Given the description of an element on the screen output the (x, y) to click on. 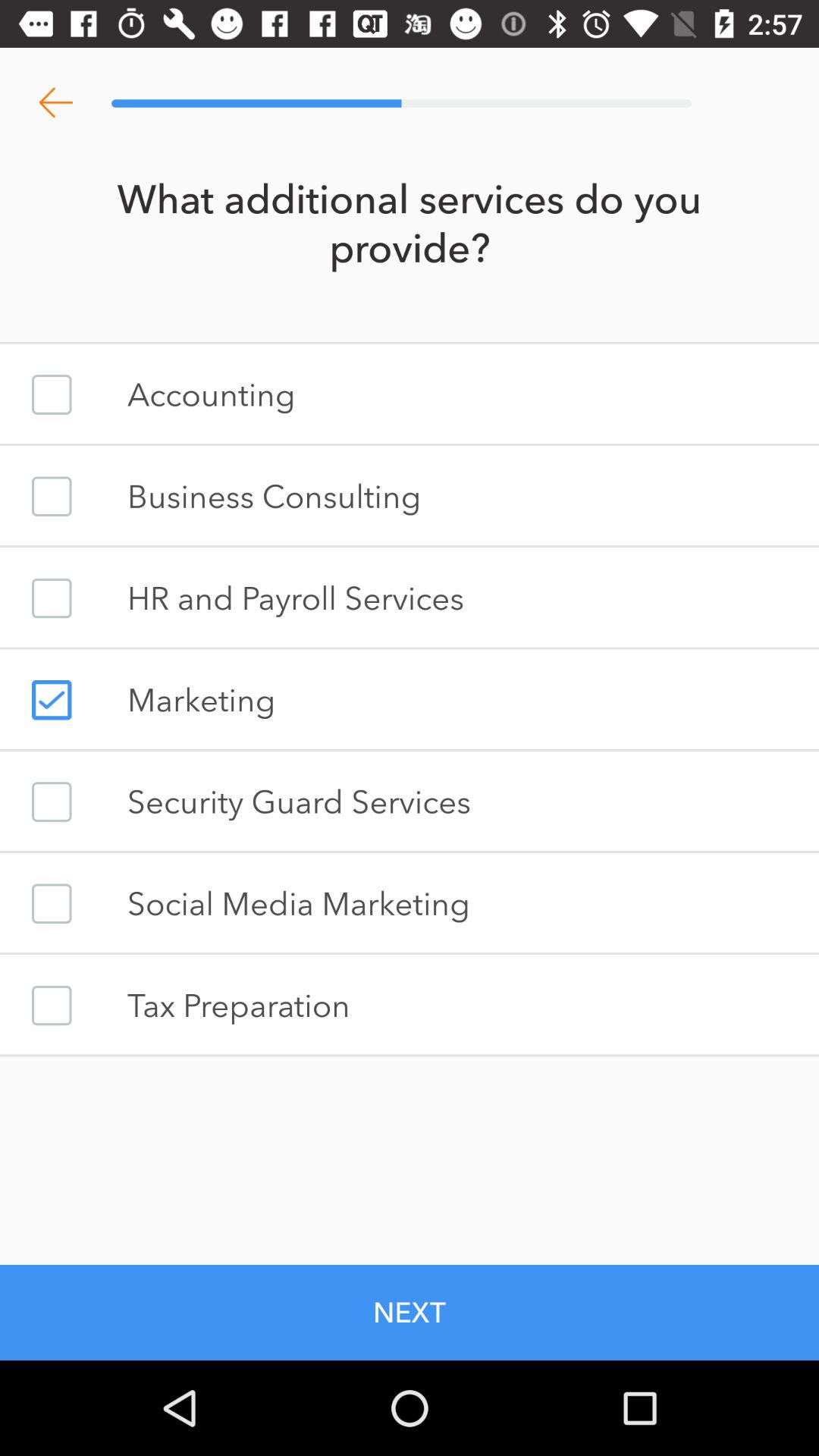
select item below tax preparation item (409, 1312)
